Given the description of an element on the screen output the (x, y) to click on. 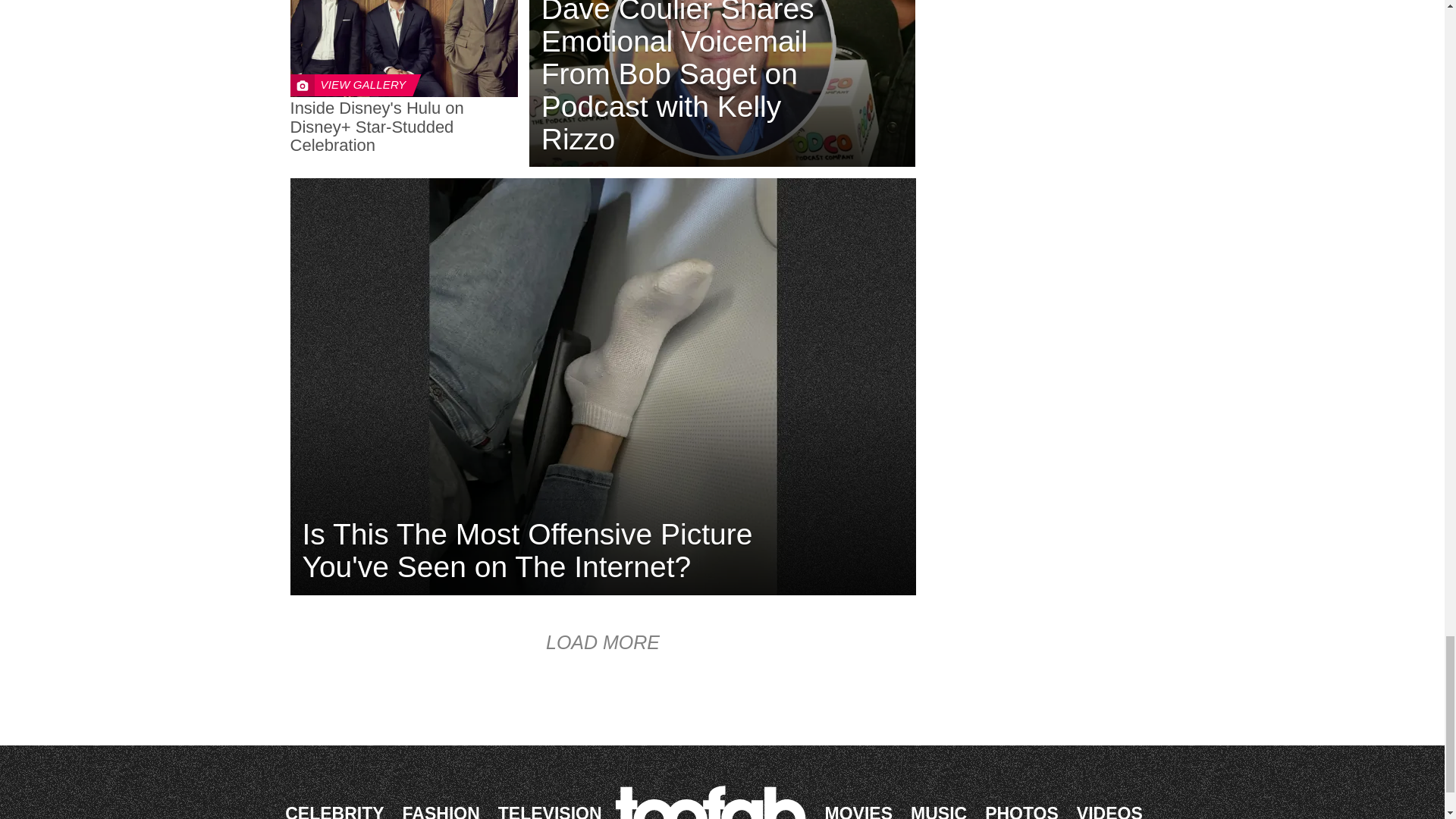
toofab (714, 801)
